Given the description of an element on the screen output the (x, y) to click on. 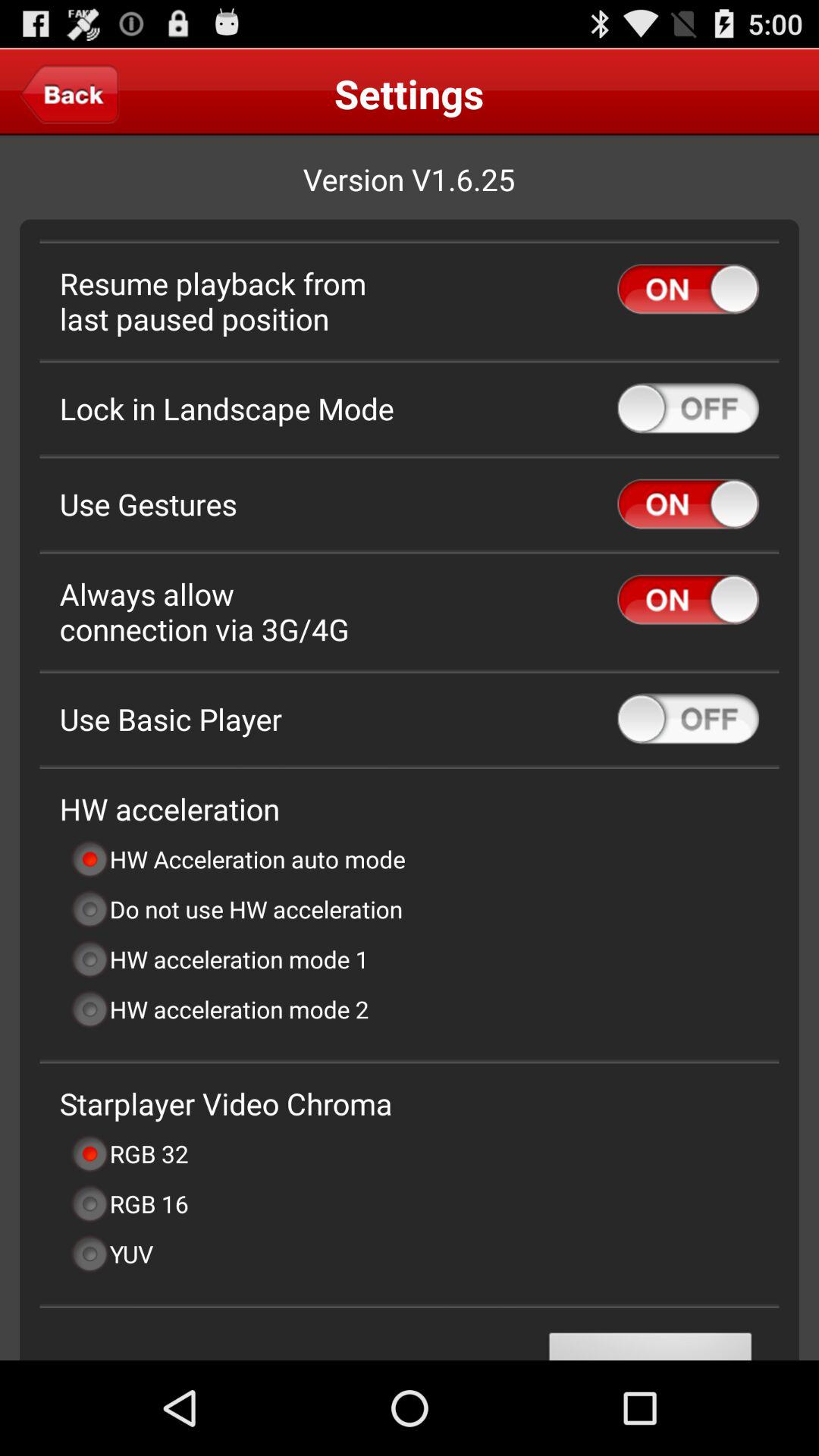
switch use gestures option to off (688, 504)
